Given the description of an element on the screen output the (x, y) to click on. 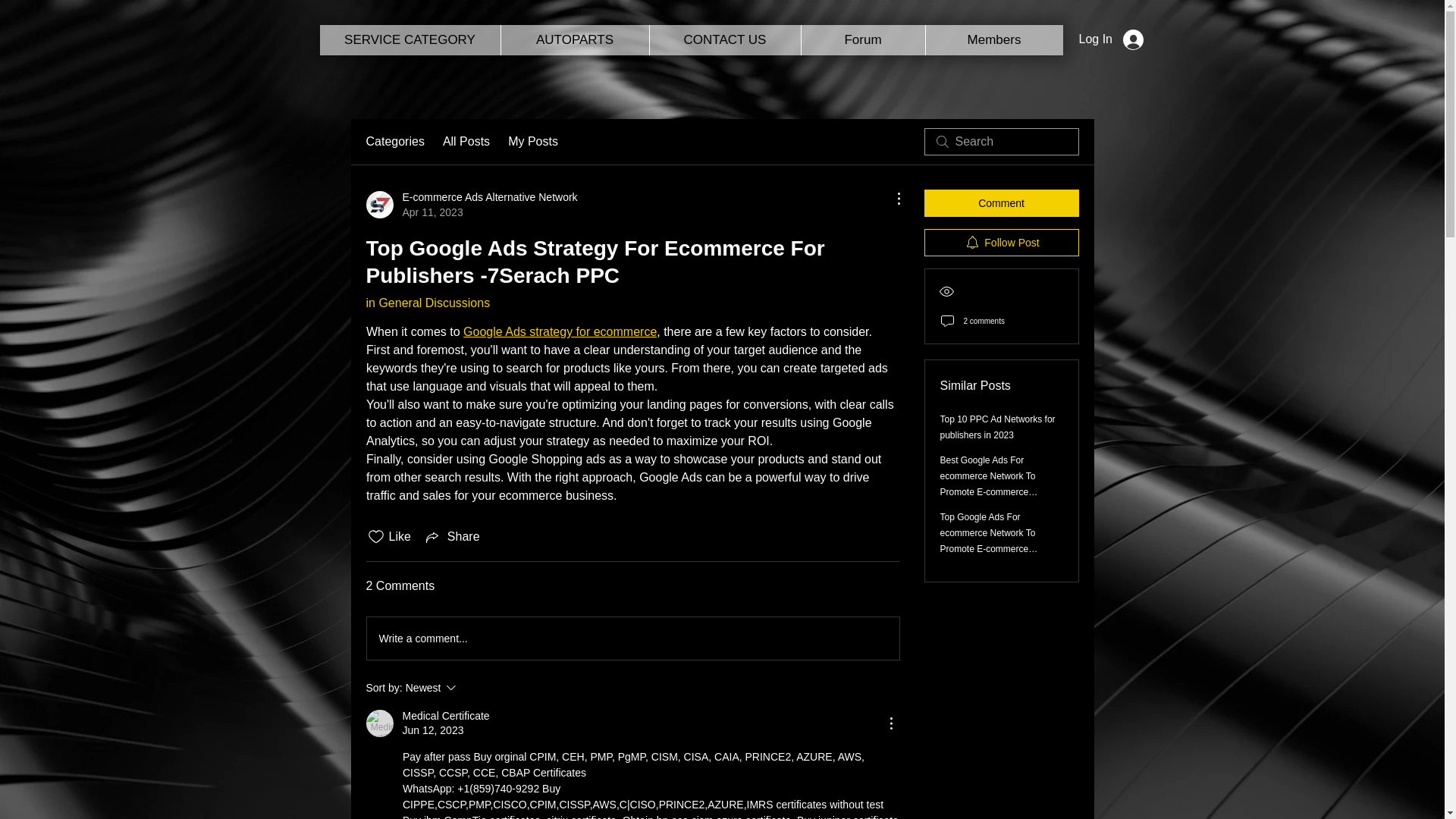
Medical Certificate (445, 716)
SERVICE CATEGORY (410, 40)
Medical Certificate (379, 723)
Share (451, 536)
All Posts (465, 141)
Log In (1110, 39)
Write a comment... (632, 638)
Categories (394, 141)
Forum (862, 40)
in General Discussions (427, 302)
